Given the description of an element on the screen output the (x, y) to click on. 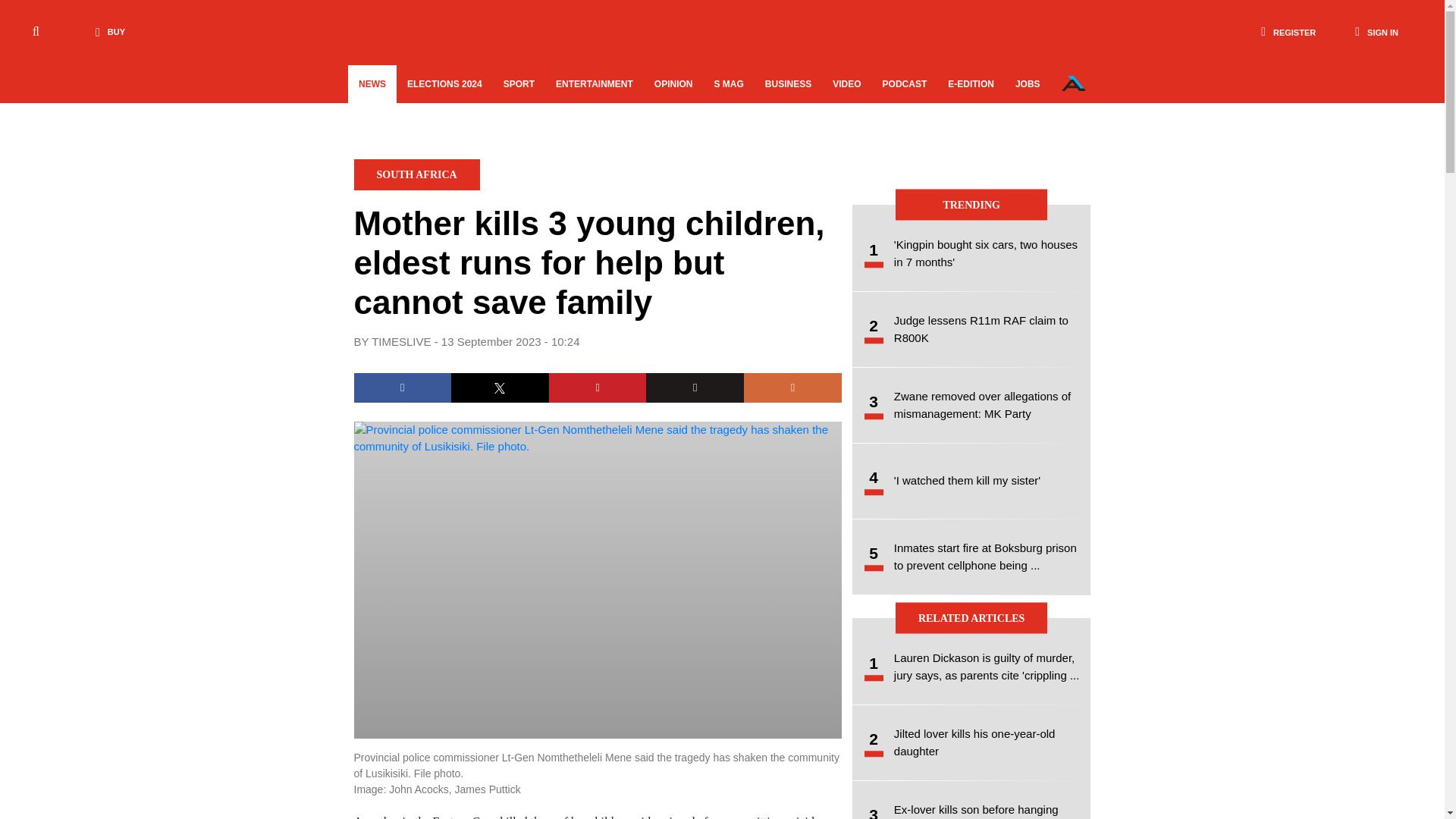
BUY (106, 32)
BUSINESS (788, 84)
SPORT (518, 84)
S MAG (728, 84)
VIDEO (846, 84)
Our Network (1073, 83)
E-EDITION (970, 84)
ENTERTAINMENT (593, 84)
ELECTIONS 2024 (444, 84)
NEWS (371, 84)
